Given the description of an element on the screen output the (x, y) to click on. 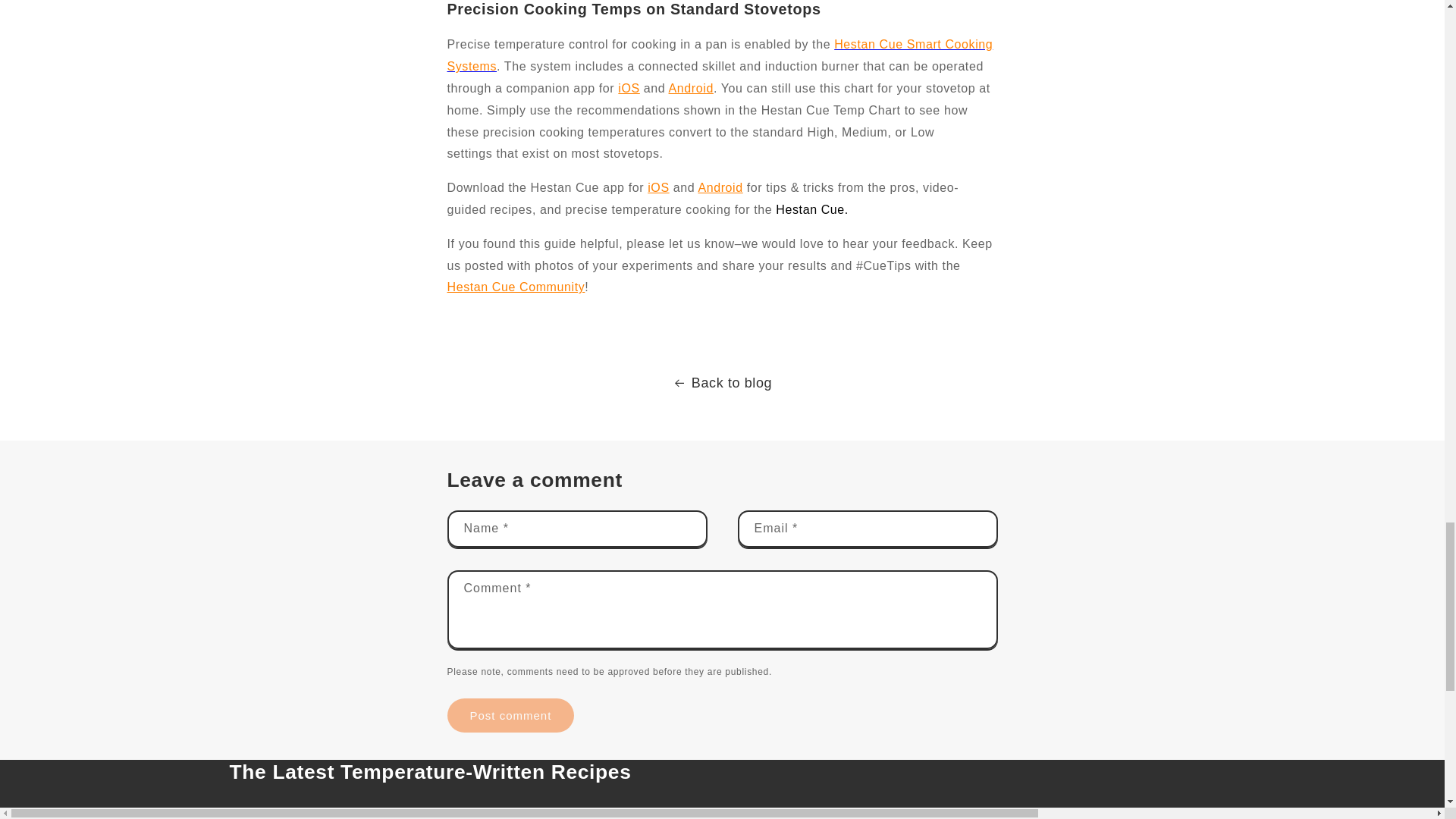
Hestan Cue iOS App (657, 187)
Post comment (510, 715)
Hestan Cue iOS App (628, 88)
cue cooking systems (719, 54)
Hestan Cue Facebook Community (515, 286)
